Given the description of an element on the screen output the (x, y) to click on. 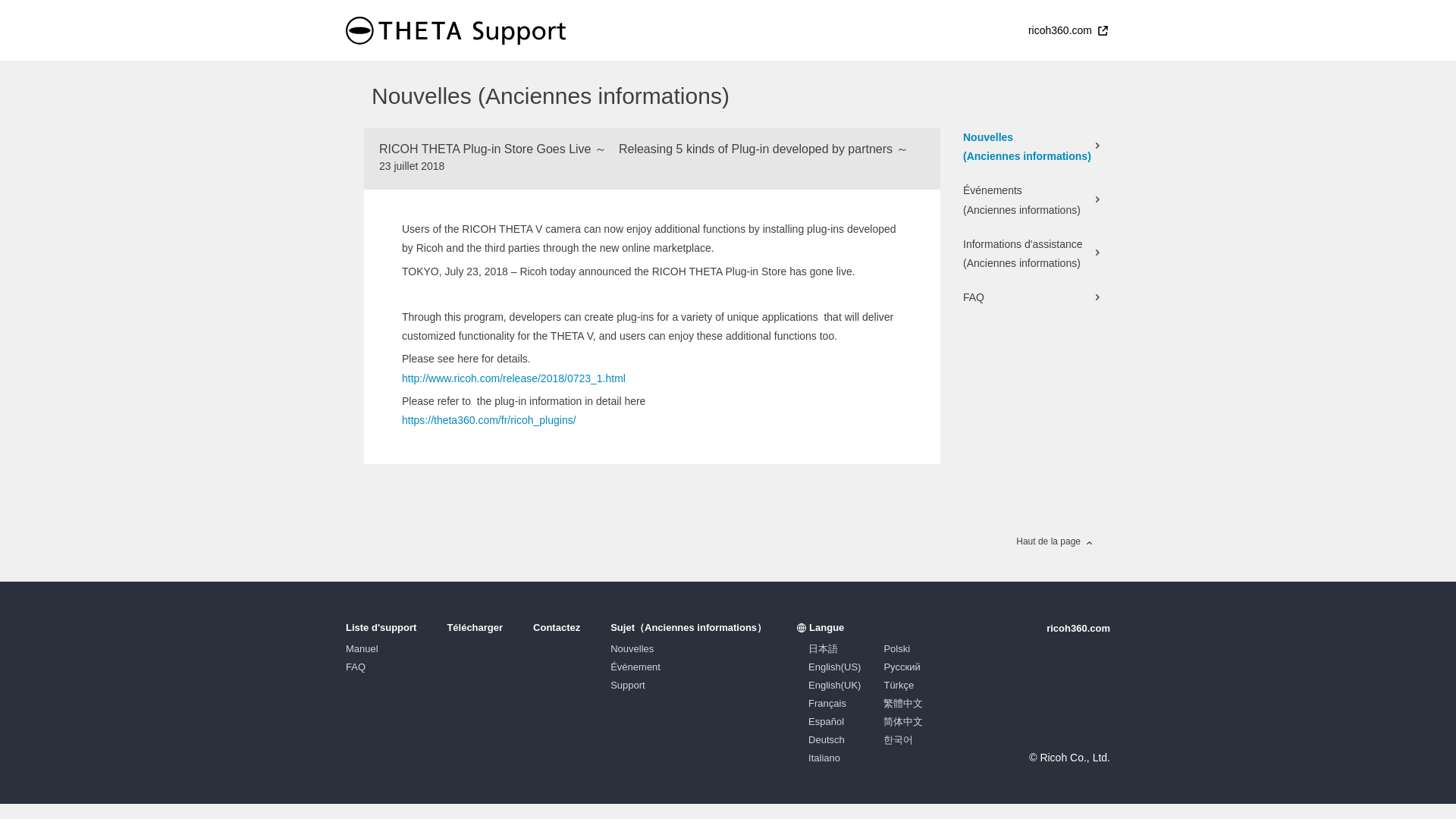
Nouvelles (631, 648)
FAQ (355, 666)
Haut de la page (1054, 541)
Contactez (555, 627)
Manuel (362, 648)
Polski (896, 648)
Liste d'support (381, 627)
ricoh360.com (1068, 29)
ricoh360.com (1077, 627)
Support (627, 685)
FAQ (1030, 297)
